Given the description of an element on the screen output the (x, y) to click on. 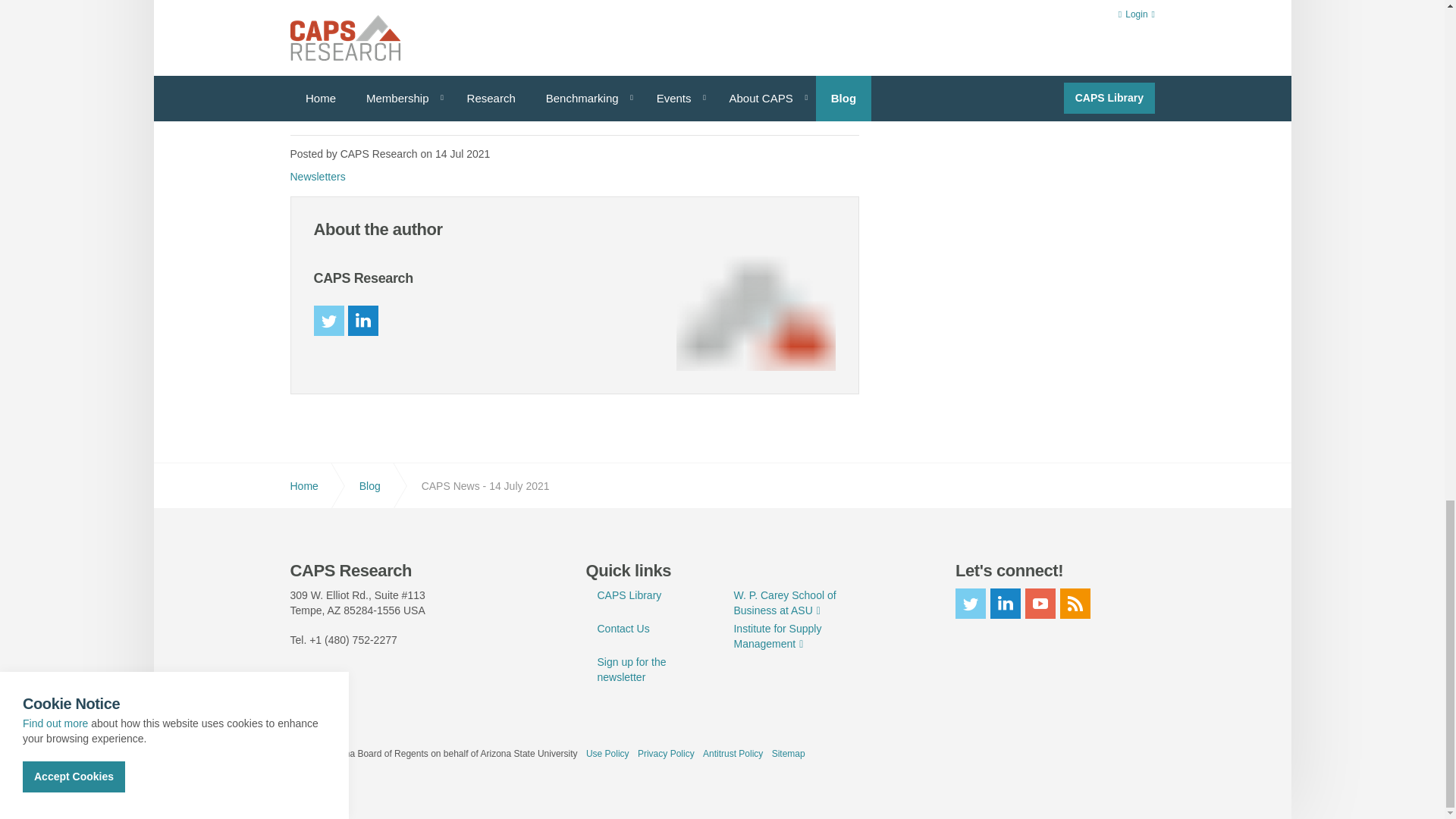
WSJ (373, 25)
Newsletters (317, 176)
Newsletters (317, 176)
Marketplace (391, 104)
Companies cutting office space predict long-term savings (373, 25)
How worried should we be about the COVID-19 Delta variant? (391, 104)
